Given the description of an element on the screen output the (x, y) to click on. 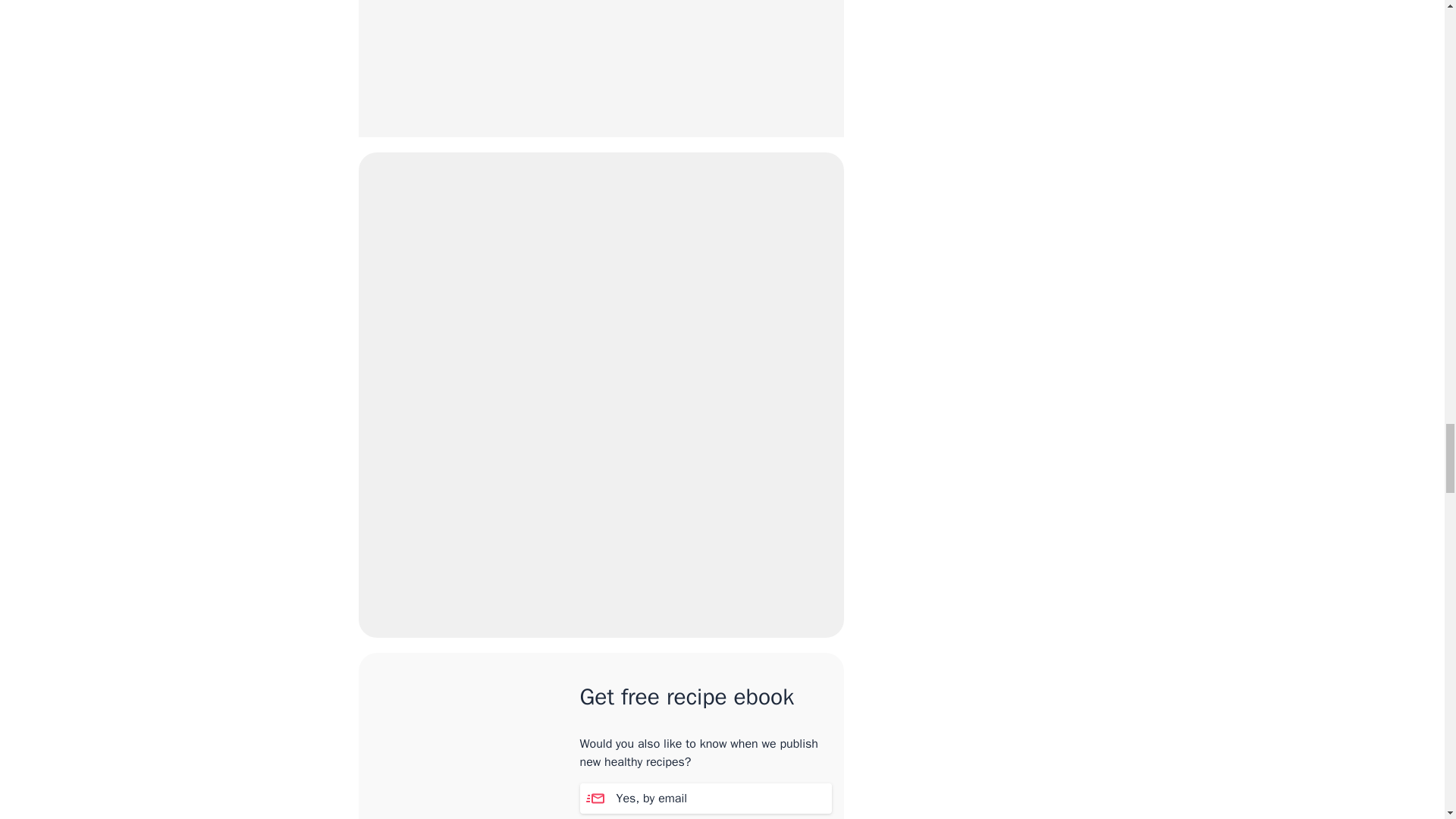
Yes, by email (705, 798)
